Given the description of an element on the screen output the (x, y) to click on. 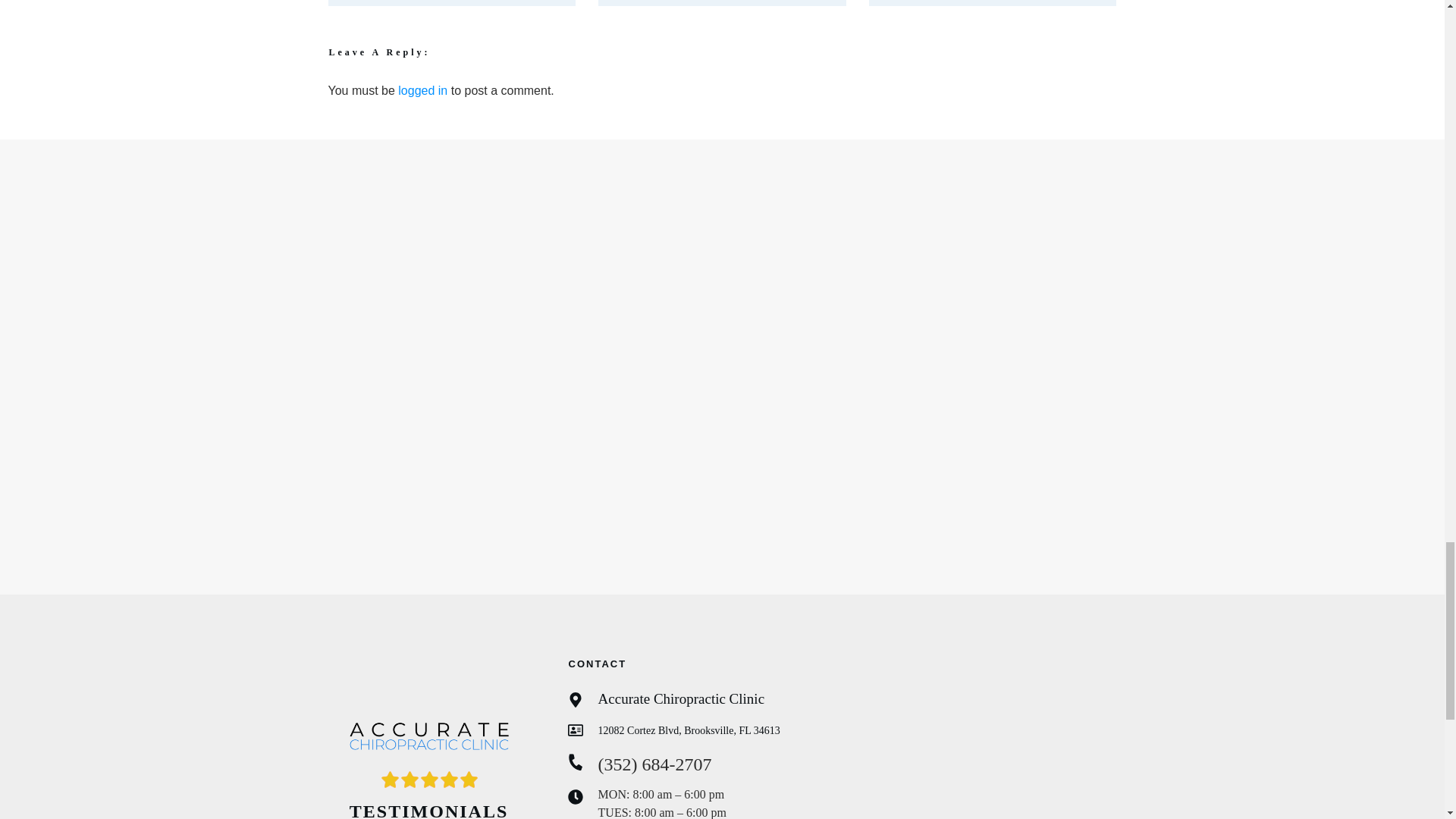
Google Map (995, 744)
